Given the description of an element on the screen output the (x, y) to click on. 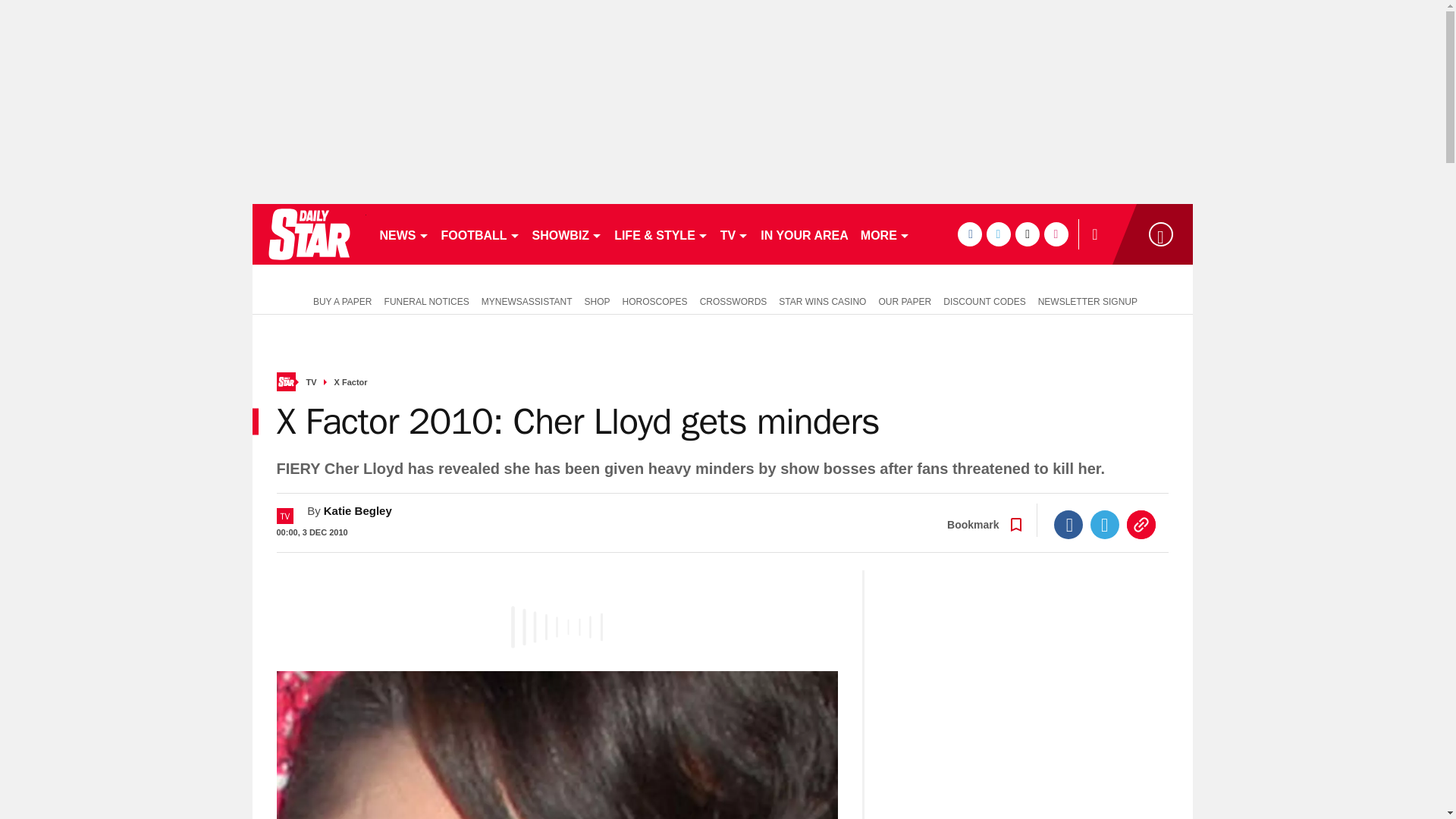
NEWS (402, 233)
instagram (1055, 233)
SHOWBIZ (566, 233)
tiktok (1026, 233)
FOOTBALL (480, 233)
Facebook (1068, 524)
dailystar (308, 233)
facebook (968, 233)
twitter (997, 233)
Twitter (1104, 524)
